Given the description of an element on the screen output the (x, y) to click on. 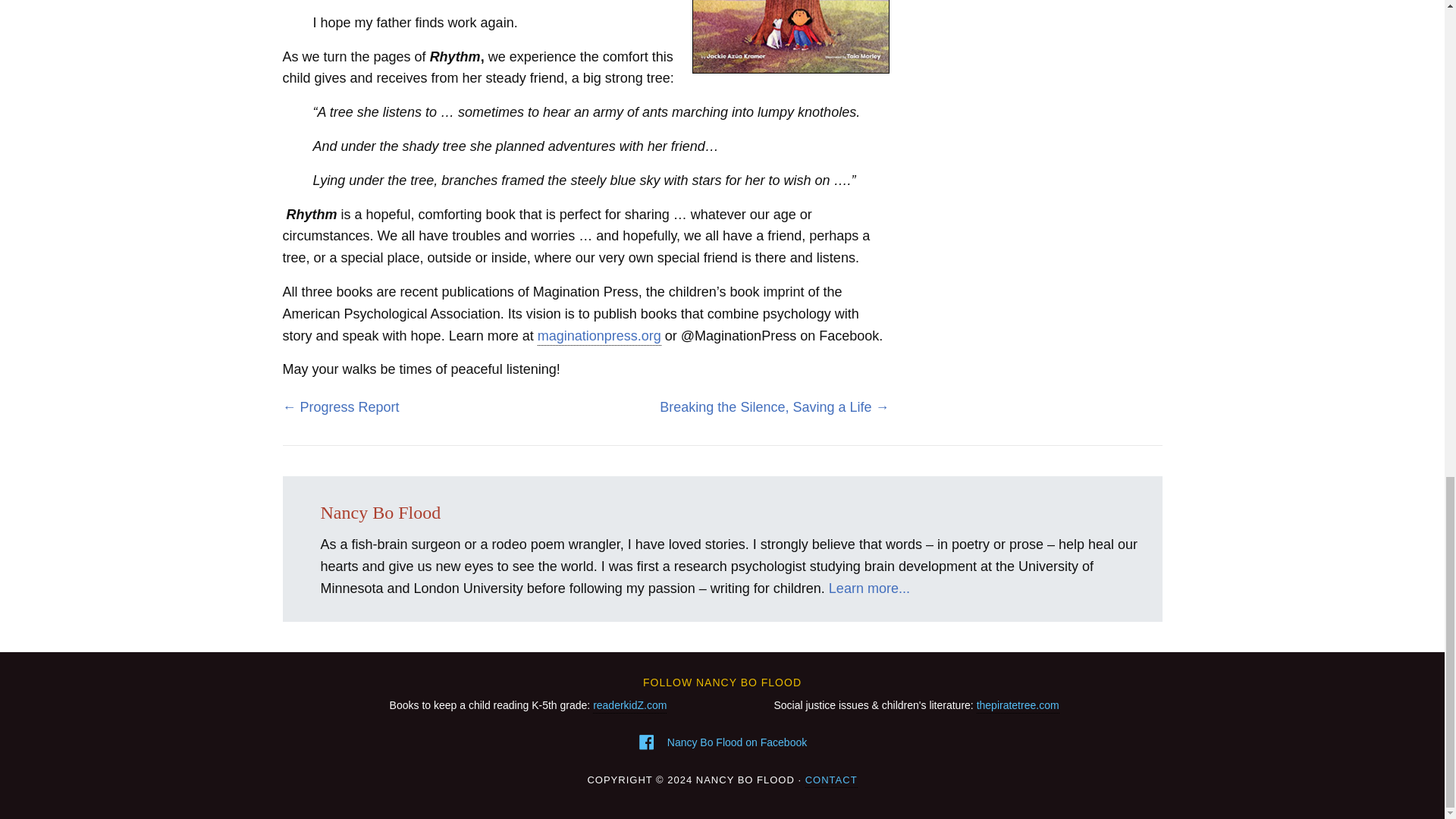
readerkidZ.com (629, 706)
Contact Nancy Bo Flood (831, 780)
thepiratetree.com (1017, 706)
Learn more... (869, 588)
CONTACT (831, 780)
Nancy Bo Flood on Facebook (736, 742)
maginationpress.org (599, 336)
